Given the description of an element on the screen output the (x, y) to click on. 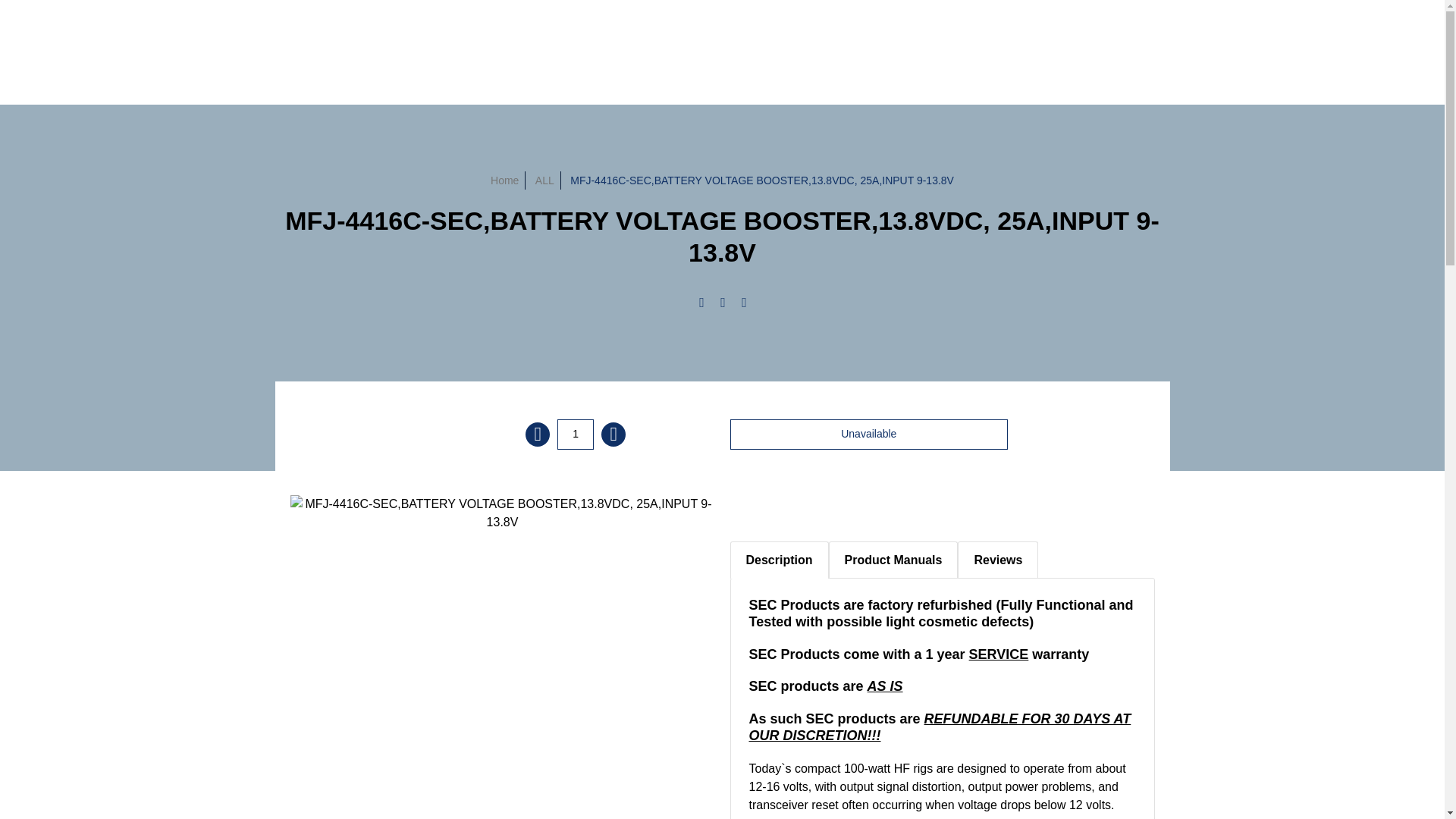
Home (504, 180)
1 (575, 433)
ALL (544, 180)
Product Manuals (893, 559)
Description (778, 559)
Unavailable (868, 433)
Unavailable (868, 433)
